Given the description of an element on the screen output the (x, y) to click on. 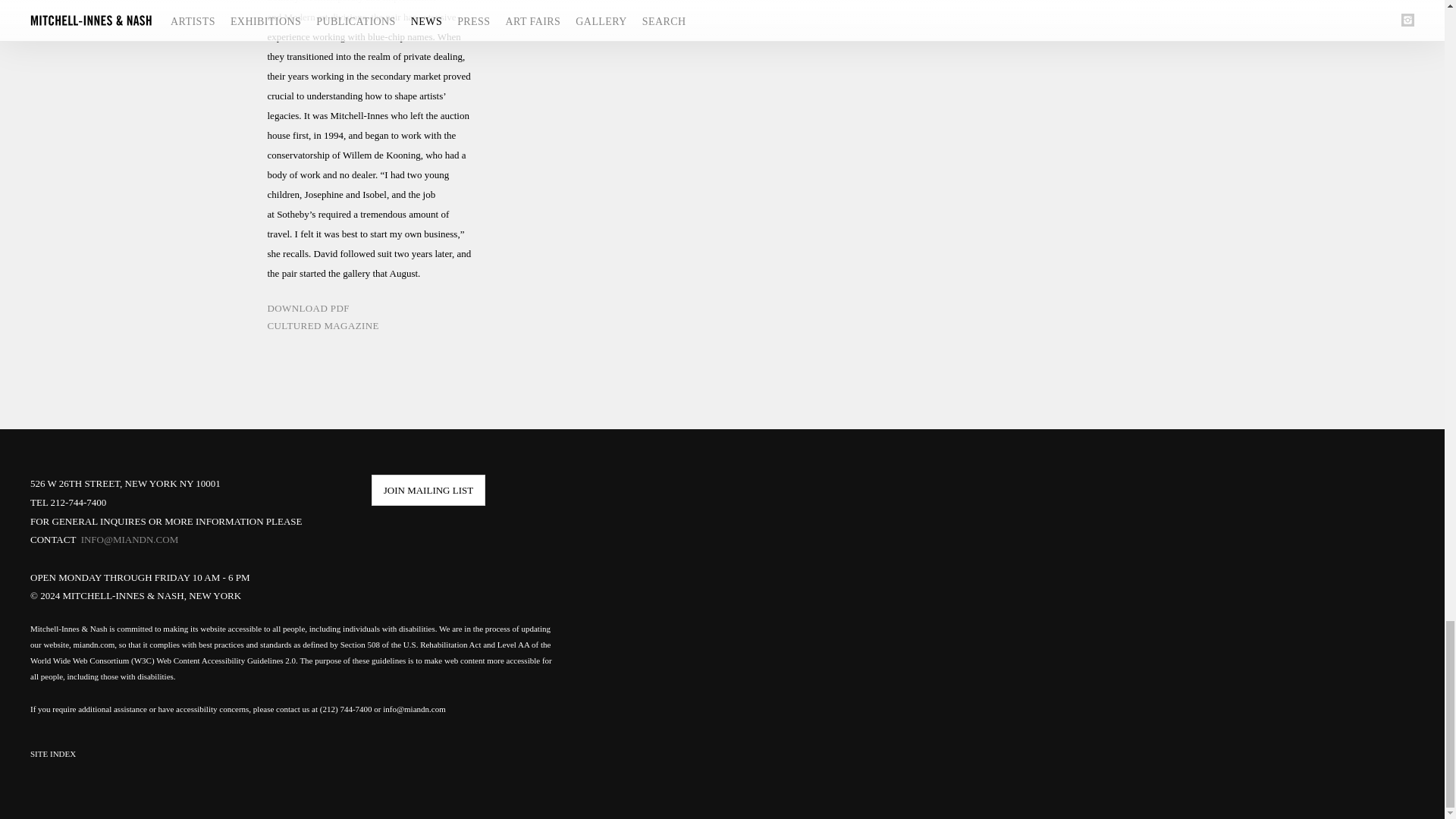
DOWNLOAD PDF (370, 312)
CULTURED MAGAZINE (370, 329)
JOIN MAILING LIST (428, 490)
